Given the description of an element on the screen output the (x, y) to click on. 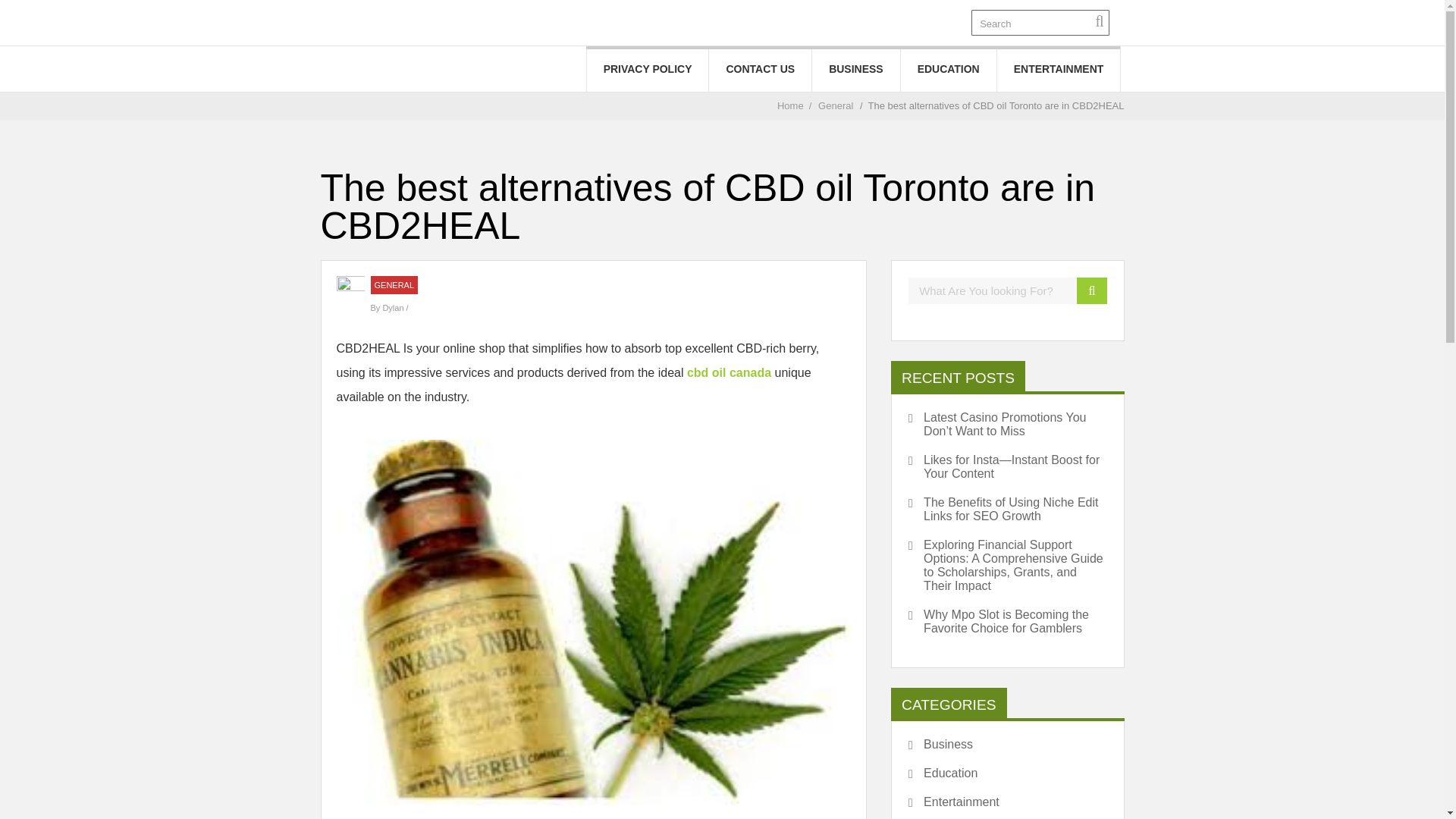
Education (942, 773)
General (835, 105)
BUSINESS (855, 68)
GENERAL (394, 284)
CONTACT US (759, 68)
The Benefits of Using Niche Edit Links for SEO Growth (1007, 509)
PRIVACY POLICY (647, 68)
cbd oil canada (730, 372)
Why Mpo Slot is Becoming the Favorite Choice for Gamblers (1007, 621)
